Given the description of an element on the screen output the (x, y) to click on. 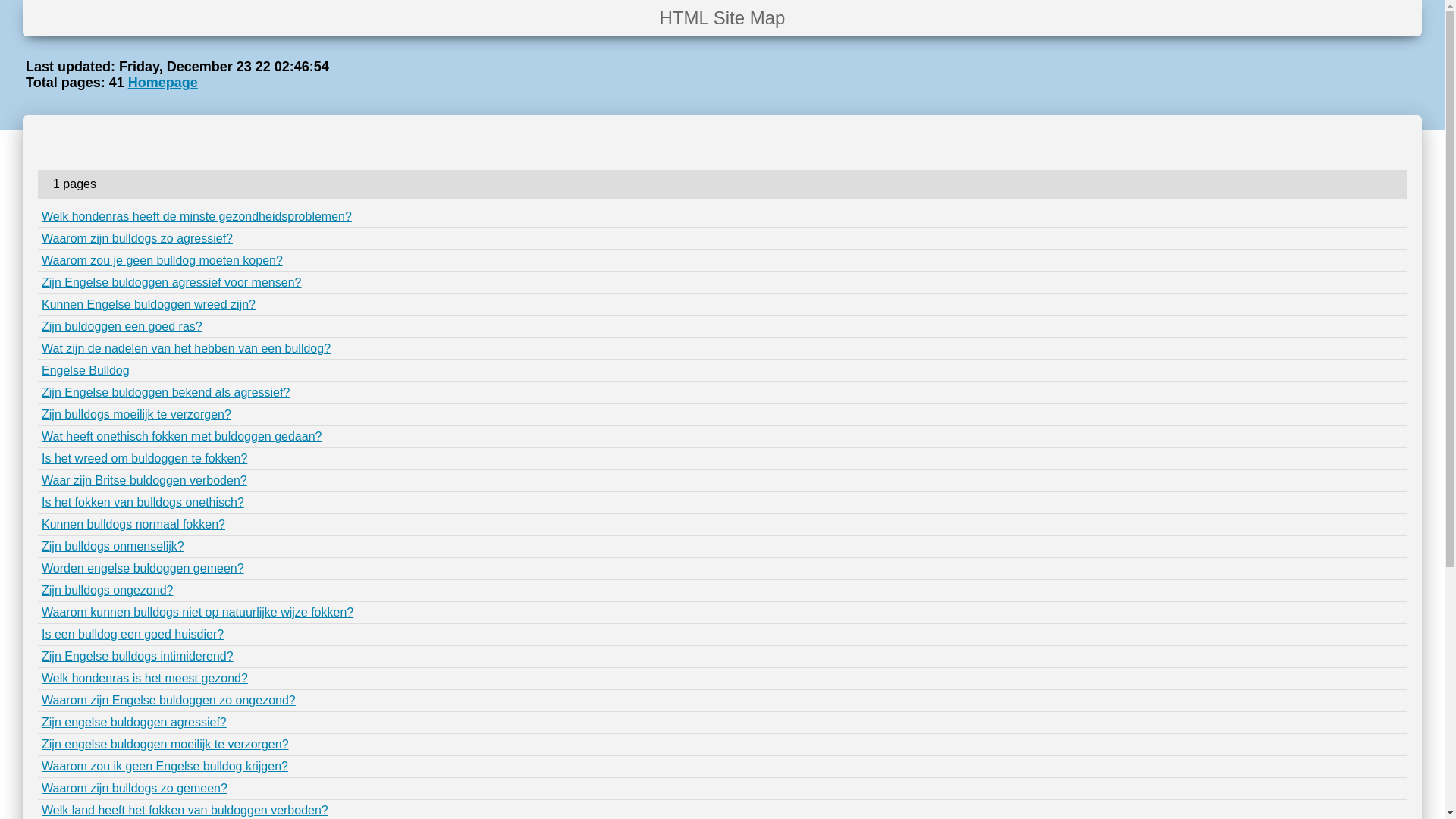
Wat zijn de nadelen van het hebben van een bulldog? Element type: text (185, 348)
Zijn Engelse buldoggen agressief voor mensen? Element type: text (171, 282)
Kunnen Engelse buldoggen wreed zijn? Element type: text (148, 304)
Waarom zijn bulldogs zo agressief? Element type: text (136, 238)
Welk hondenras is het meest gezond? Element type: text (144, 677)
Engelse Bulldog Element type: text (85, 370)
Zijn bulldogs onmenselijk? Element type: text (112, 545)
Zijn Engelse buldoggen bekend als agressief? Element type: text (165, 391)
Worden engelse buldoggen gemeen? Element type: text (142, 567)
Homepage Element type: text (162, 82)
Zijn bulldogs ongezond? Element type: text (106, 589)
Zijn engelse buldoggen moeilijk te verzorgen? Element type: text (164, 743)
Wat heeft onethisch fokken met buldoggen gedaan? Element type: text (181, 435)
Zijn buldoggen een goed ras? Element type: text (121, 326)
Kunnen bulldogs normaal fokken? Element type: text (133, 523)
Waar zijn Britse buldoggen verboden? Element type: text (144, 479)
1 Element type: text (1394, 145)
Zijn engelse buldoggen agressief? Element type: text (133, 721)
Zijn bulldogs moeilijk te verzorgen? Element type: text (136, 413)
Waarom zou je geen bulldog moeten kopen? Element type: text (161, 260)
Welk land heeft het fokken van buldoggen verboden? Element type: text (184, 809)
Waarom zou ik geen Engelse bulldog krijgen? Element type: text (164, 765)
Welk hondenras heeft de minste gezondheidsproblemen? Element type: text (196, 216)
Is een bulldog een goed huisdier? Element type: text (132, 633)
Waarom zijn Engelse buldoggen zo ongezond? Element type: text (168, 699)
Zijn Engelse bulldogs intimiderend? Element type: text (137, 655)
Waarom zijn bulldogs zo gemeen? Element type: text (134, 787)
Is het wreed om buldoggen te fokken? Element type: text (144, 457)
Waarom kunnen bulldogs niet op natuurlijke wijze fokken? Element type: text (197, 611)
Is het fokken van bulldogs onethisch? Element type: text (142, 501)
